Given the description of an element on the screen output the (x, y) to click on. 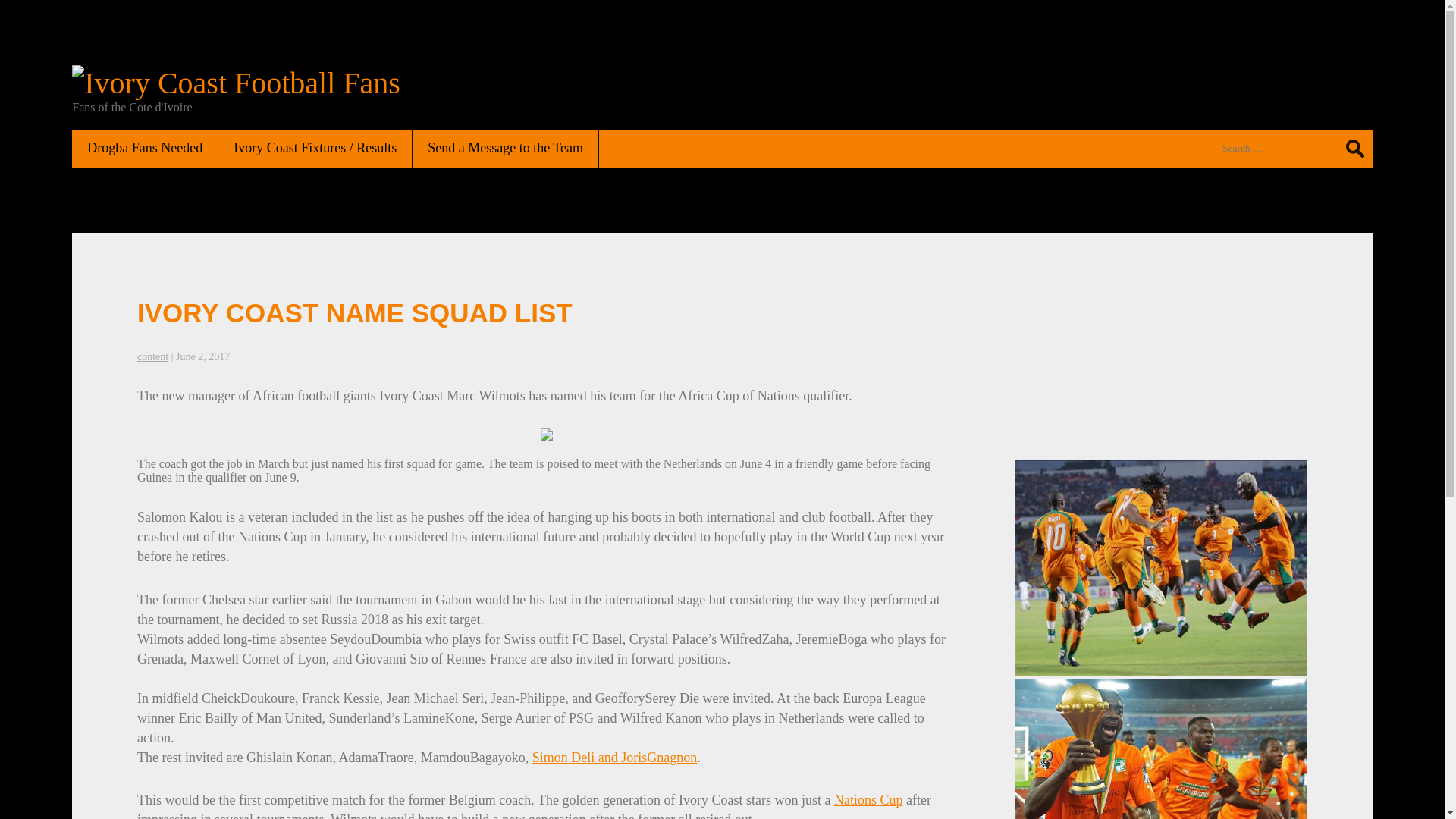
Nations Cup (868, 799)
Ivory Coast Football Fans (235, 82)
June 2, 2017 (203, 356)
Drogba Fans Needed (144, 147)
content (152, 356)
IVORY COAST NAME SQUAD LIST (354, 312)
Simon Deli and JorisGnagnon (614, 757)
Send a Message to the Team (505, 147)
Ivory Coast Football Fans (235, 82)
IVORY COAST NAME SQUAD LIST (354, 312)
Posts by content (152, 356)
